Given the description of an element on the screen output the (x, y) to click on. 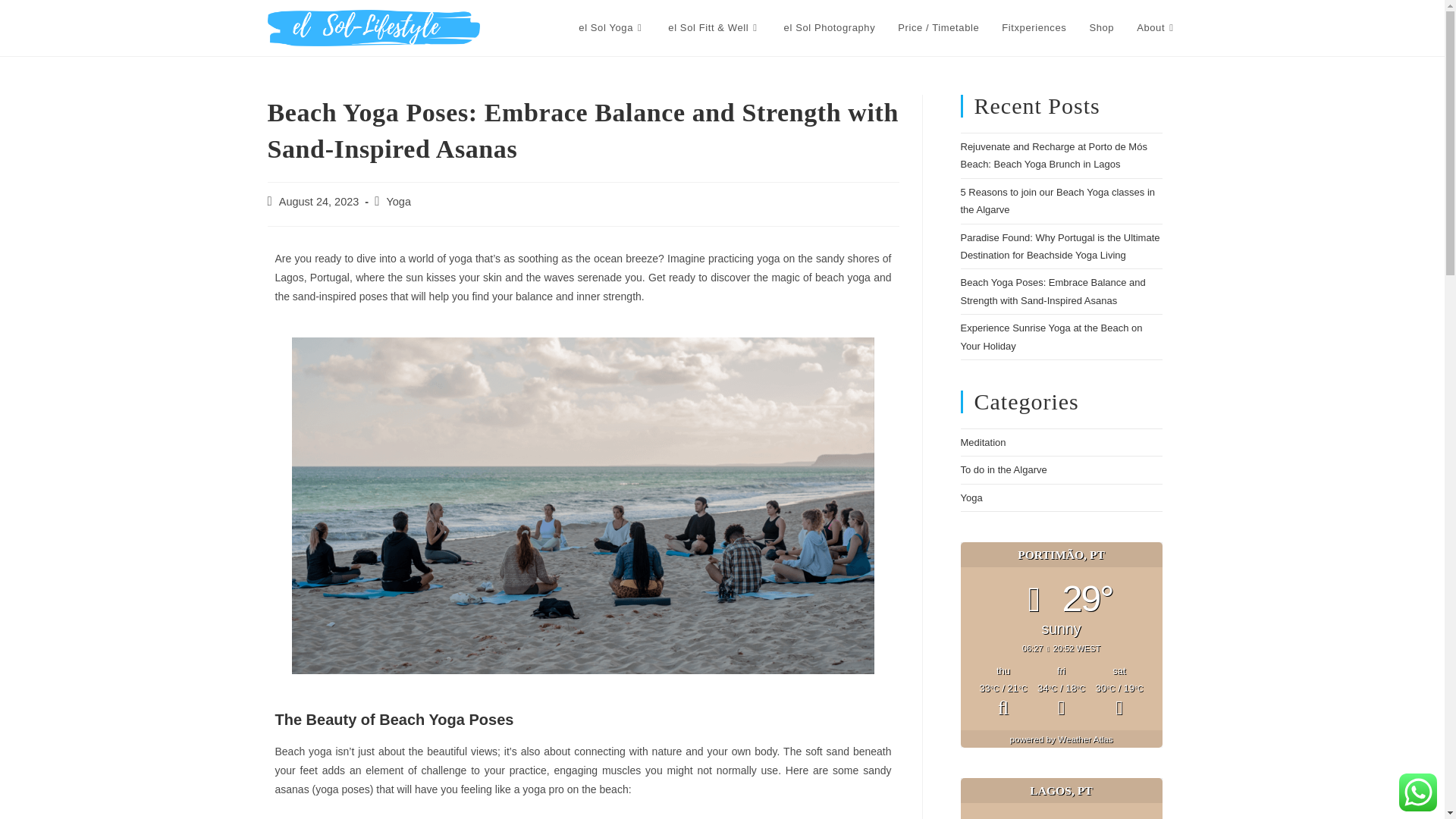
Sunny (1061, 700)
el Sol Yoga (611, 28)
About (1156, 28)
Sunny (1119, 700)
Fitxperiences (1033, 28)
Partly Cloudy (1003, 700)
el Sol Photography (829, 28)
